Given the description of an element on the screen output the (x, y) to click on. 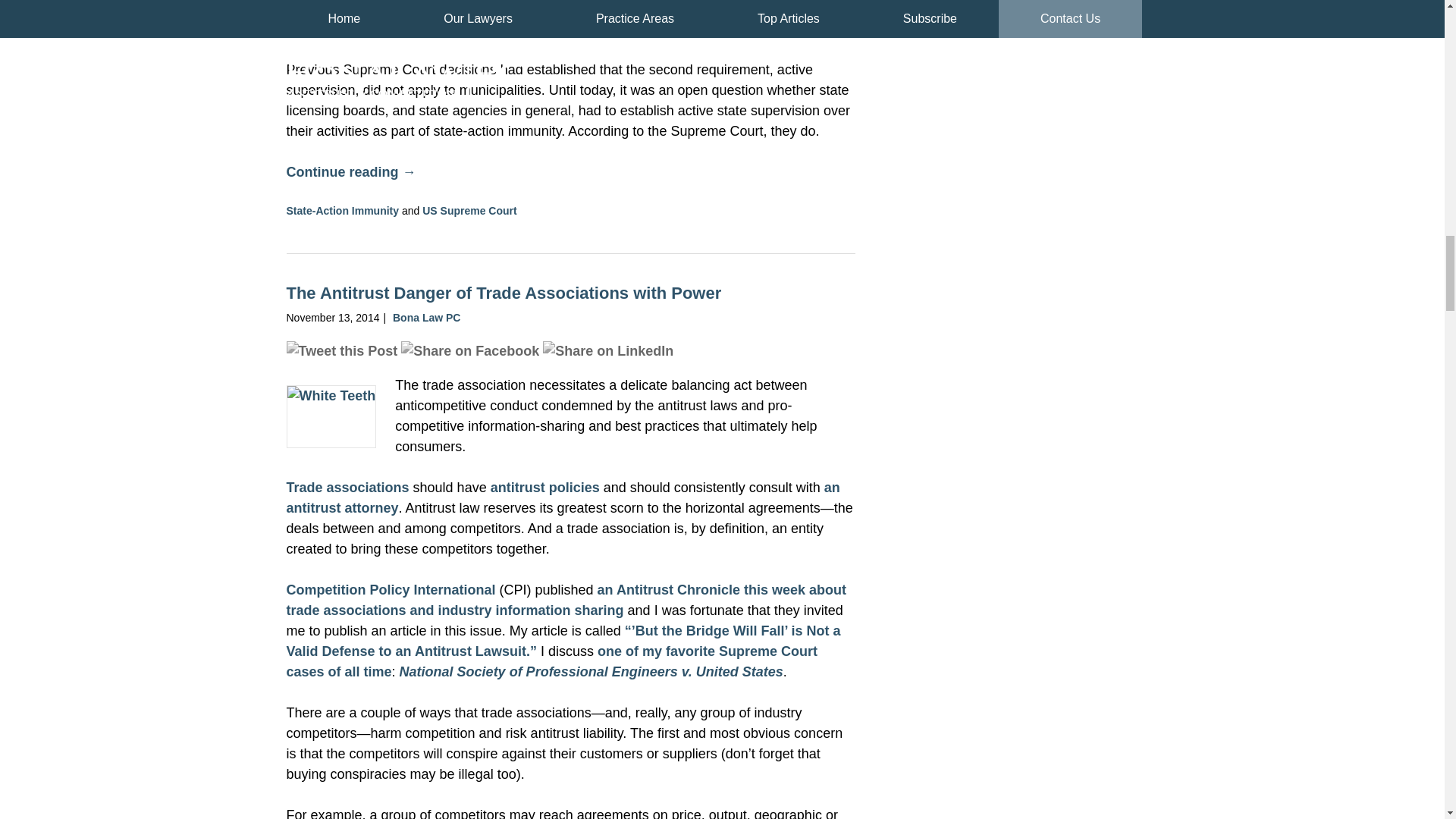
View all posts in State-Action Immunity (342, 210)
View all posts in US Supreme Court (469, 210)
